Given the description of an element on the screen output the (x, y) to click on. 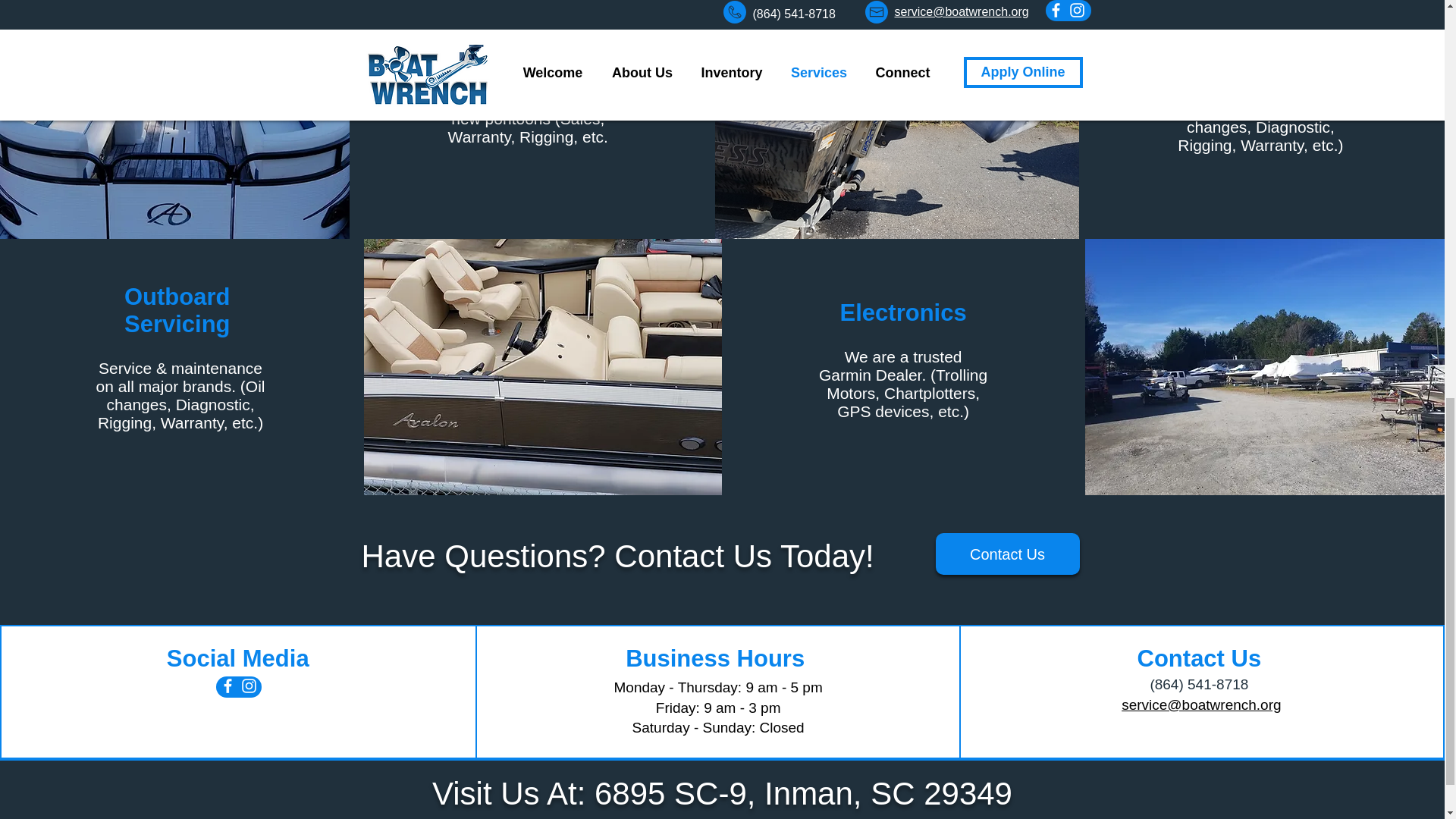
Visit Us At: 6895 SC-9, Inman, SC 29349 (721, 793)
Contact Us (1008, 553)
Have Questions? Contact Us Today! (617, 556)
